Given the description of an element on the screen output the (x, y) to click on. 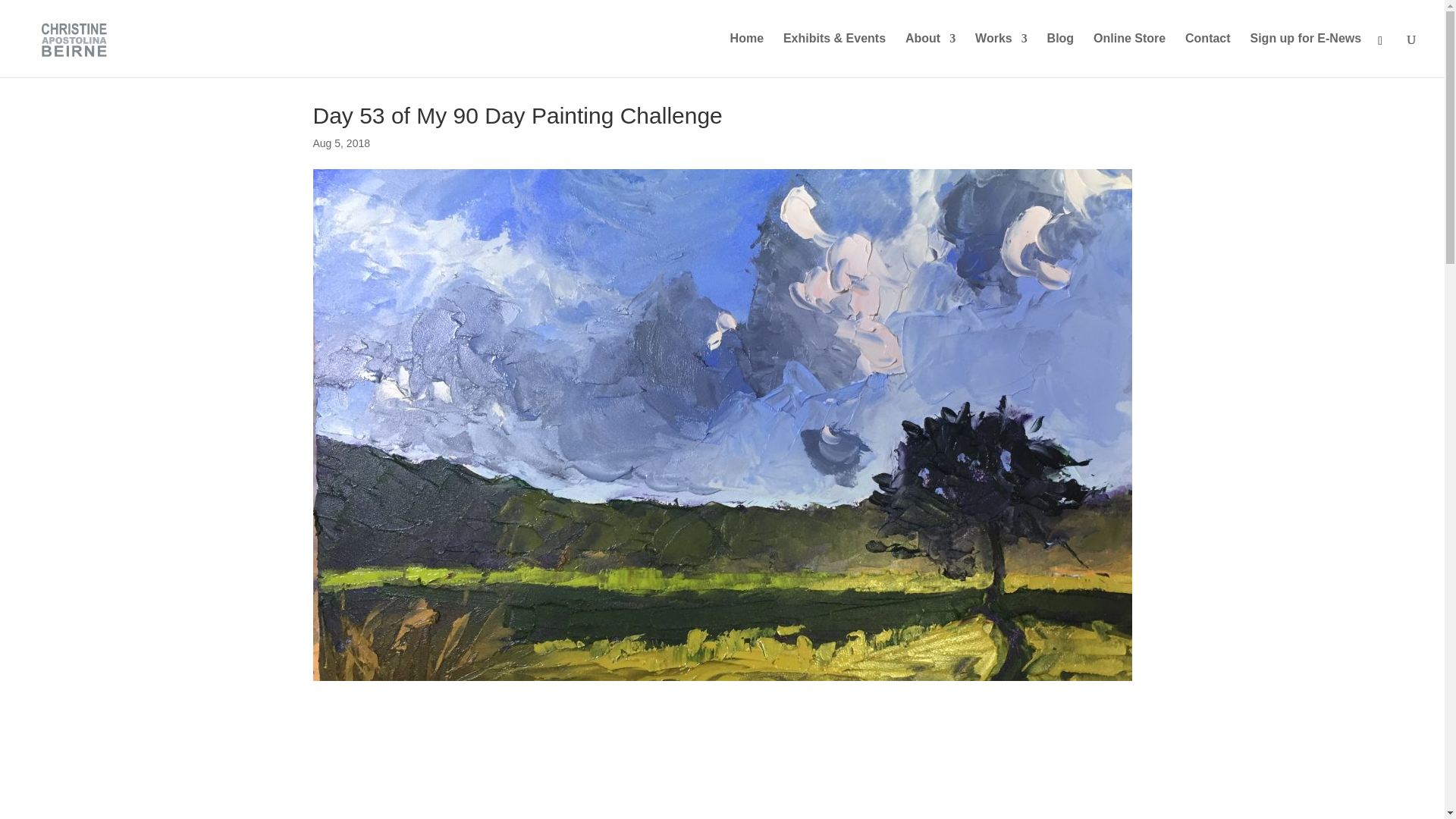
Works (1001, 54)
Contact (1207, 54)
About (930, 54)
Online Store (1129, 54)
Sign up for E-News (1305, 54)
